Given the description of an element on the screen output the (x, y) to click on. 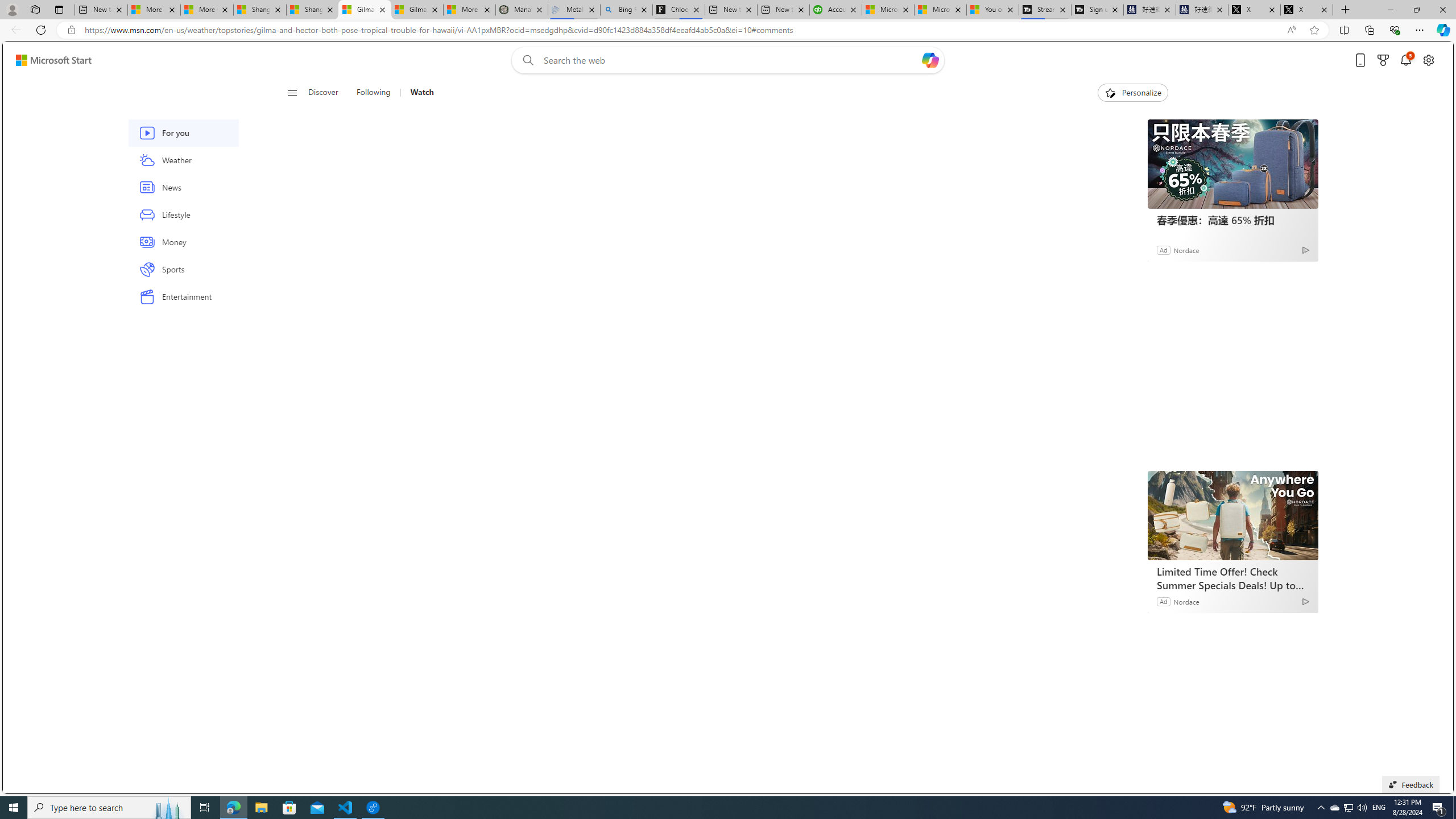
Open Copilot (930, 59)
Personalize (1132, 92)
Microsoft Start (940, 9)
App bar (728, 29)
